Given the description of an element on the screen output the (x, y) to click on. 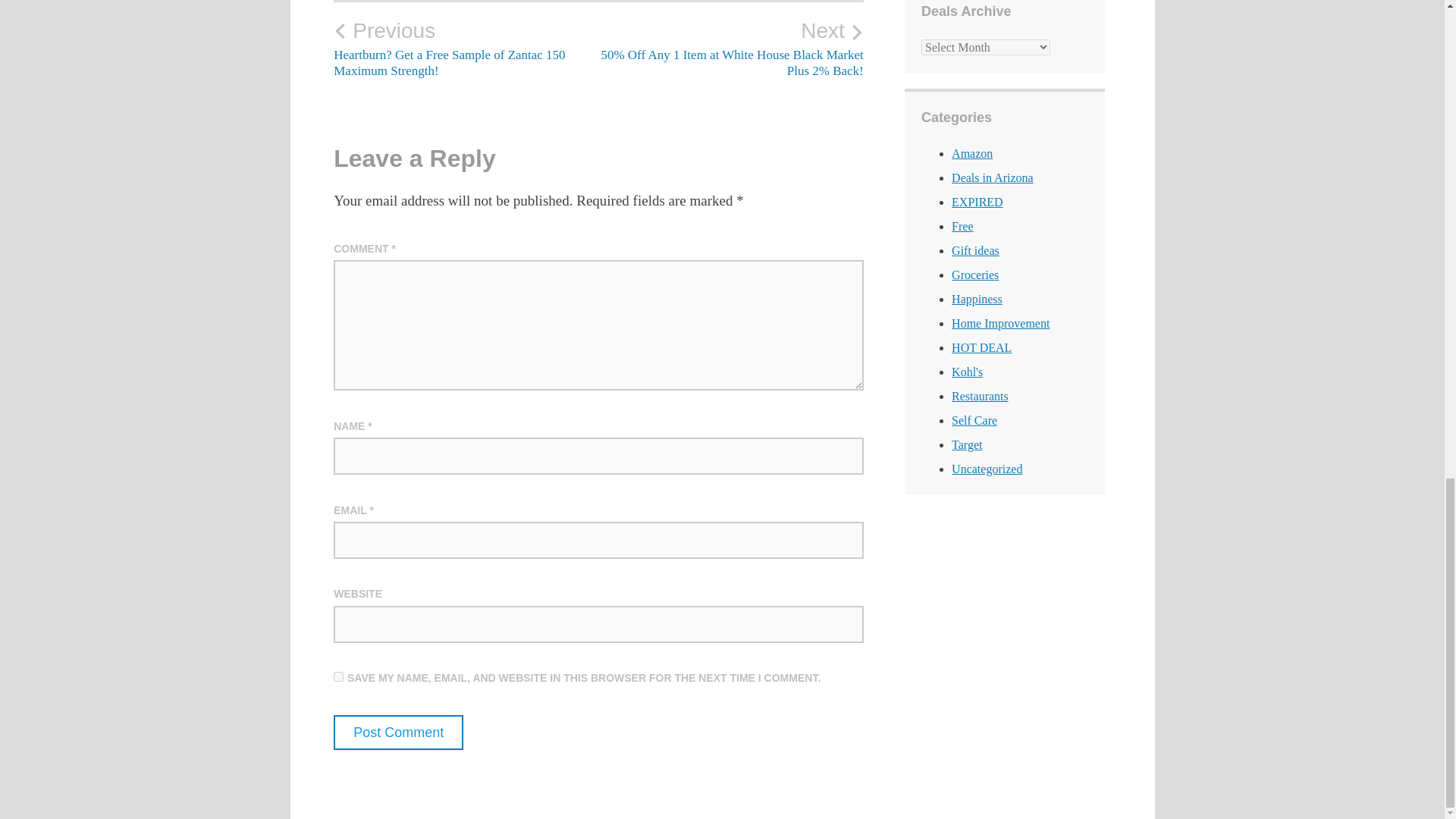
Gift ideas (975, 250)
Groceries (975, 274)
HOT DEAL (981, 347)
yes (338, 676)
Free (962, 226)
Happiness (977, 298)
EXPIRED (977, 201)
Post Comment (398, 732)
Deals in Arizona (992, 177)
Amazon (972, 153)
Post Comment (398, 732)
Kohl's (967, 371)
Home Improvement (1000, 323)
